Given the description of an element on the screen output the (x, y) to click on. 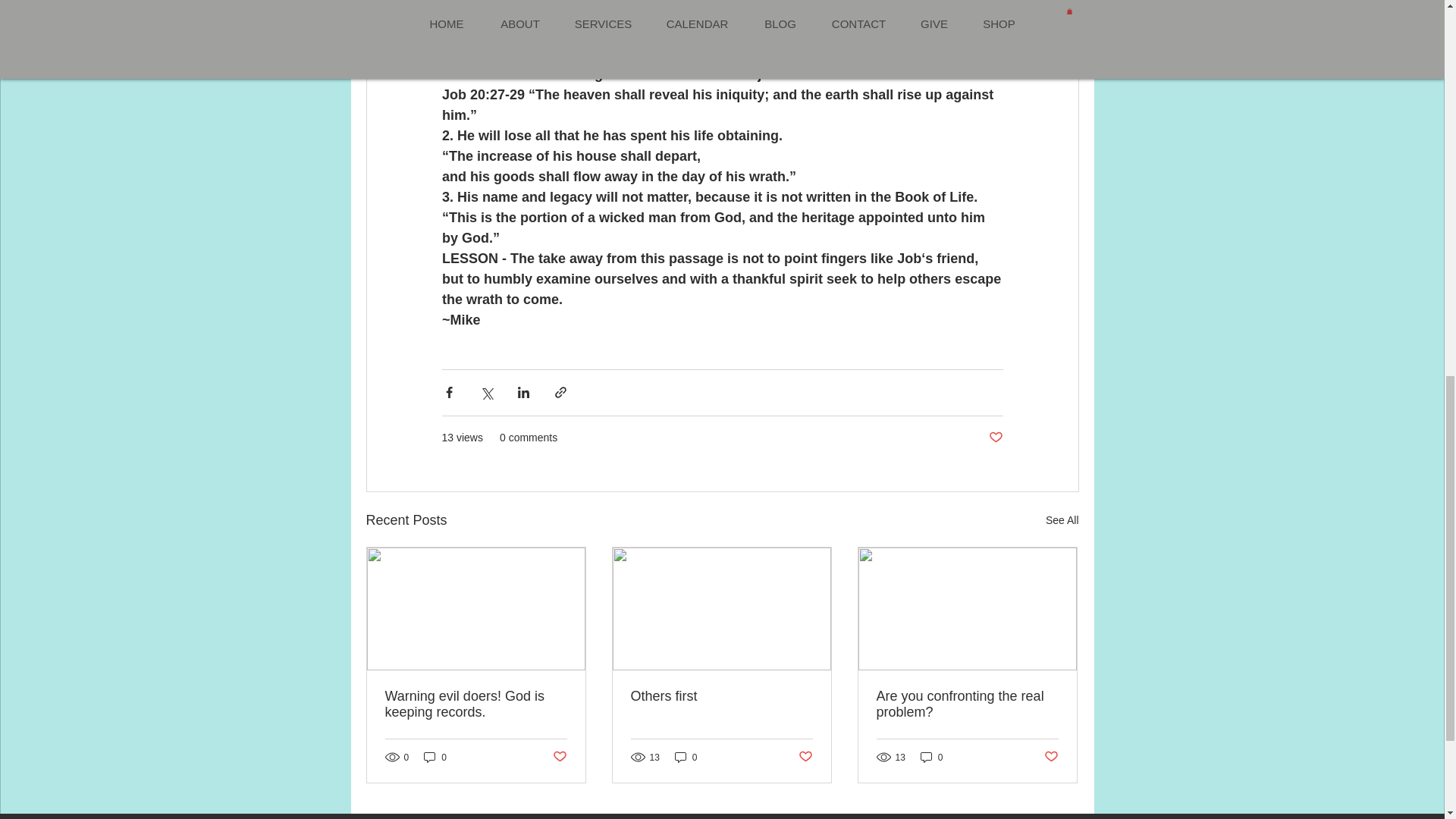
0 (435, 757)
Are you confronting the real problem? (967, 704)
Post not marked as liked (558, 756)
Post not marked as liked (995, 437)
Post not marked as liked (1050, 756)
Others first (721, 696)
0 (685, 757)
0 (931, 757)
See All (1061, 520)
Warning evil doers! God is keeping records. (476, 704)
Post not marked as liked (804, 756)
